Given the description of an element on the screen output the (x, y) to click on. 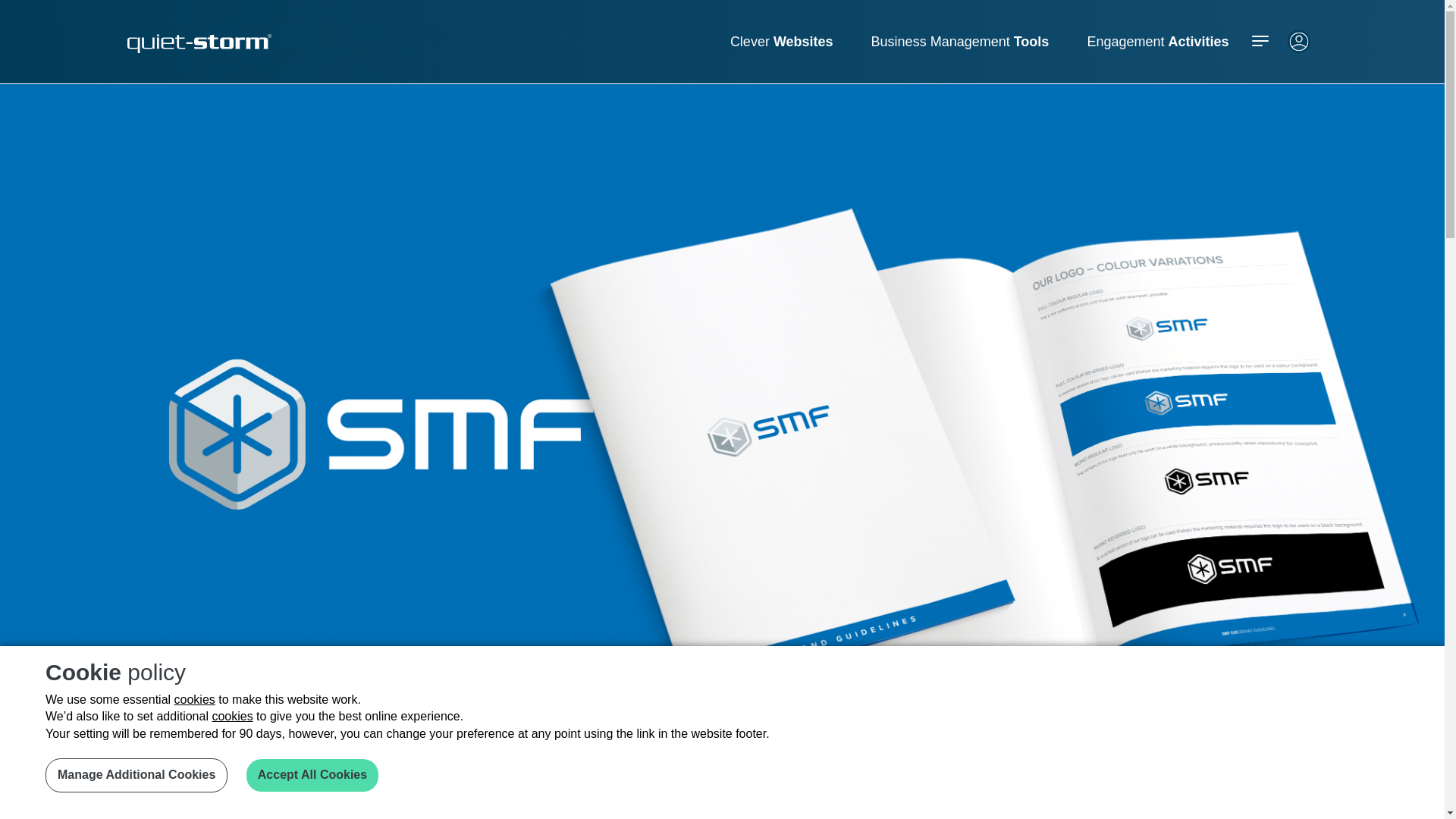
Manage Additional Cookies (136, 775)
cookies (231, 716)
Toggle navigation (1259, 40)
Client Login (1298, 49)
Accept All Cookies (312, 775)
cookies (194, 698)
Engagement Activities (1157, 41)
Quiet Storm - Home Page (198, 43)
Business Management Tools (960, 41)
Clever Websites (781, 41)
